Given the description of an element on the screen output the (x, y) to click on. 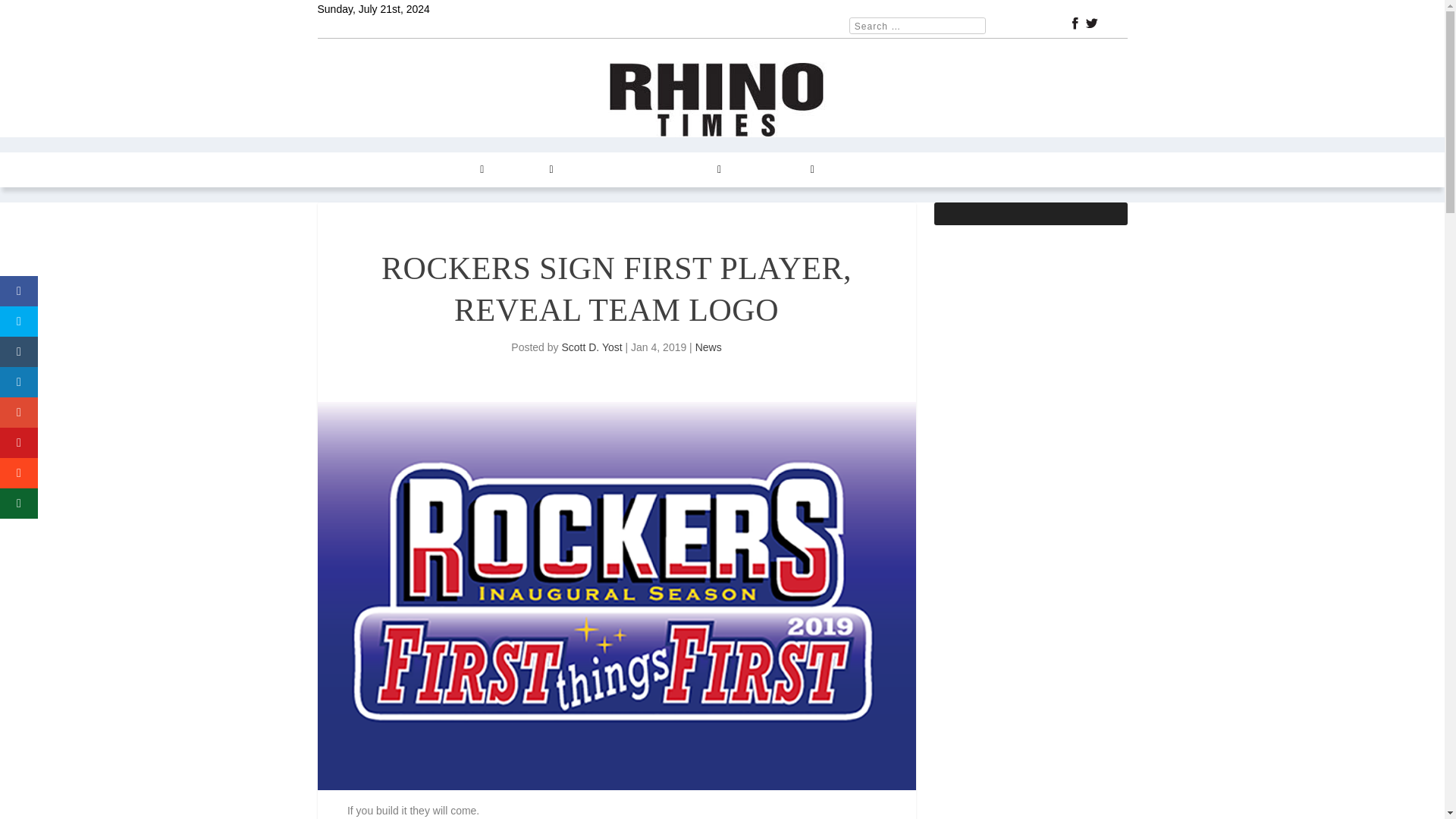
ABOUT US (858, 169)
HOME (342, 169)
REAL ESTATE (606, 169)
OBITUARIES (935, 169)
ARCHIVES (689, 169)
Posts by Scott D. Yost (590, 346)
COLUMNS (453, 169)
NEWS (390, 169)
Search (31, 13)
OPINION (526, 169)
CONTACT US (775, 169)
